Given the description of an element on the screen output the (x, y) to click on. 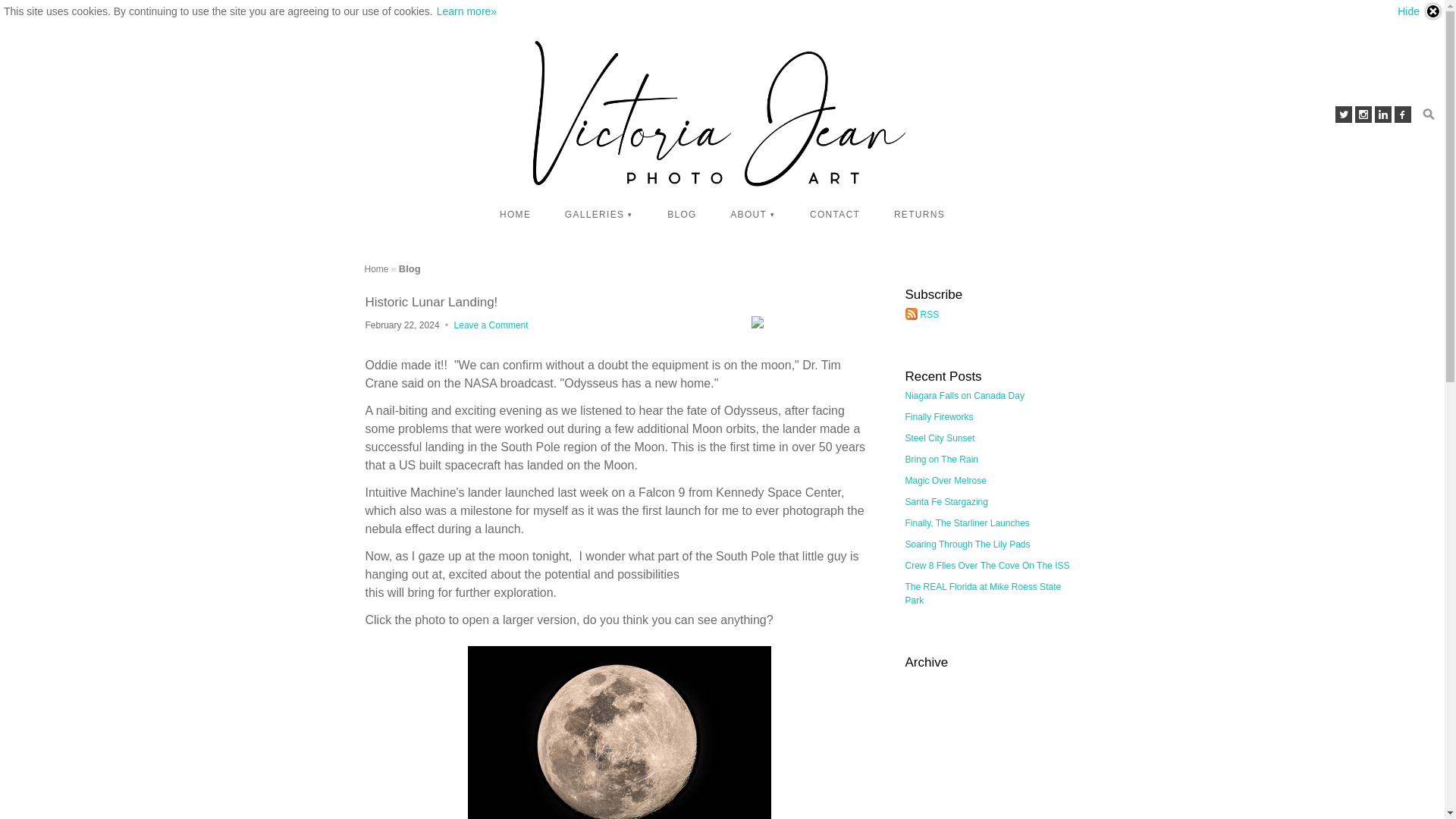
Victoria Jean - Victoria Jean Photo Art (376, 268)
Victoria Jean - Victoria Jean Photo Art (721, 114)
HOME (515, 214)
BLOG (681, 214)
Hide (1419, 11)
